Given the description of an element on the screen output the (x, y) to click on. 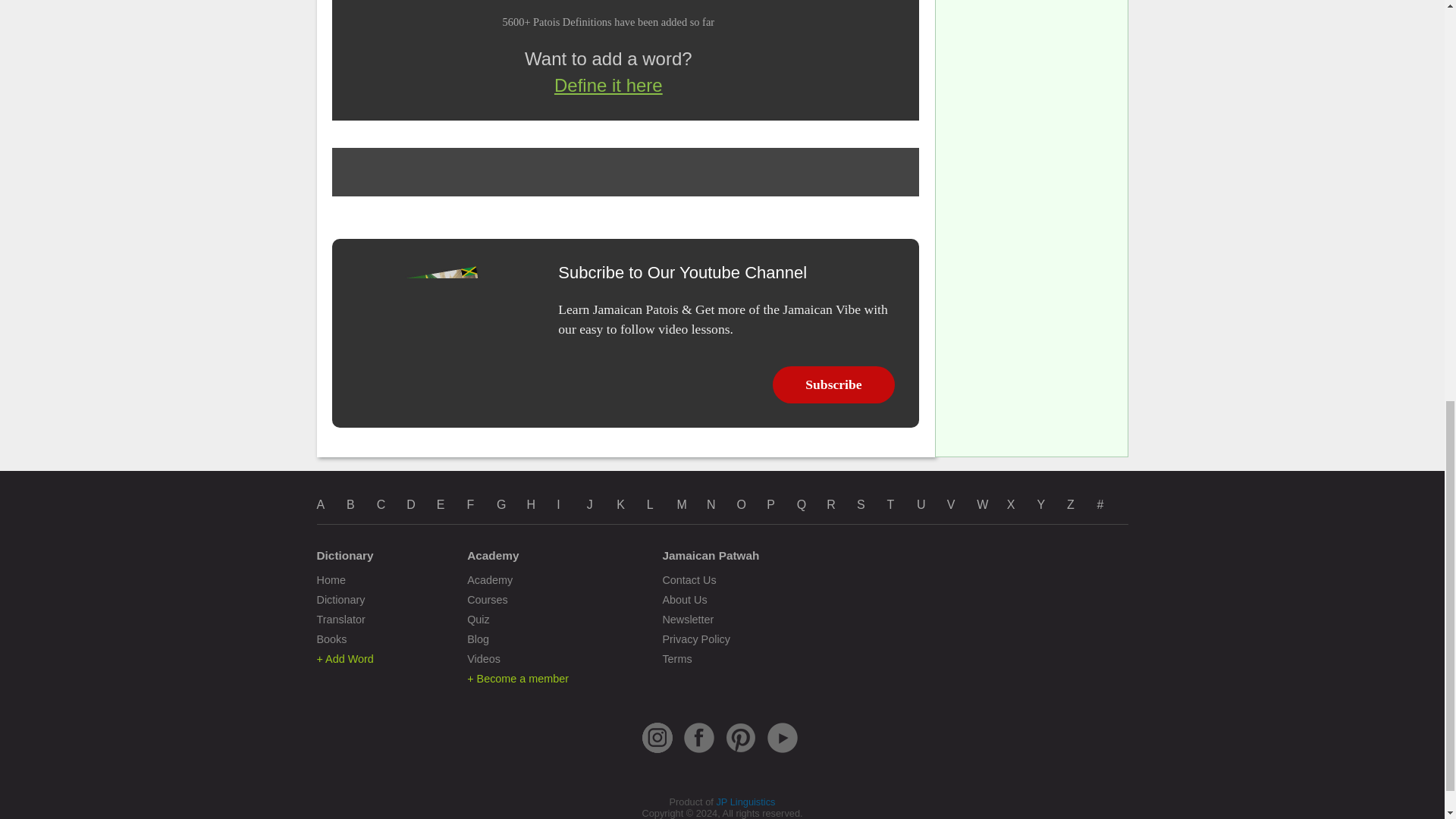
Follow us on Pinterest (740, 751)
Find us on Facebook (699, 751)
Follow us on Instagram (657, 751)
Subcribe on Youtube (782, 751)
Subscribe (834, 384)
Define it here (608, 85)
